Given the description of an element on the screen output the (x, y) to click on. 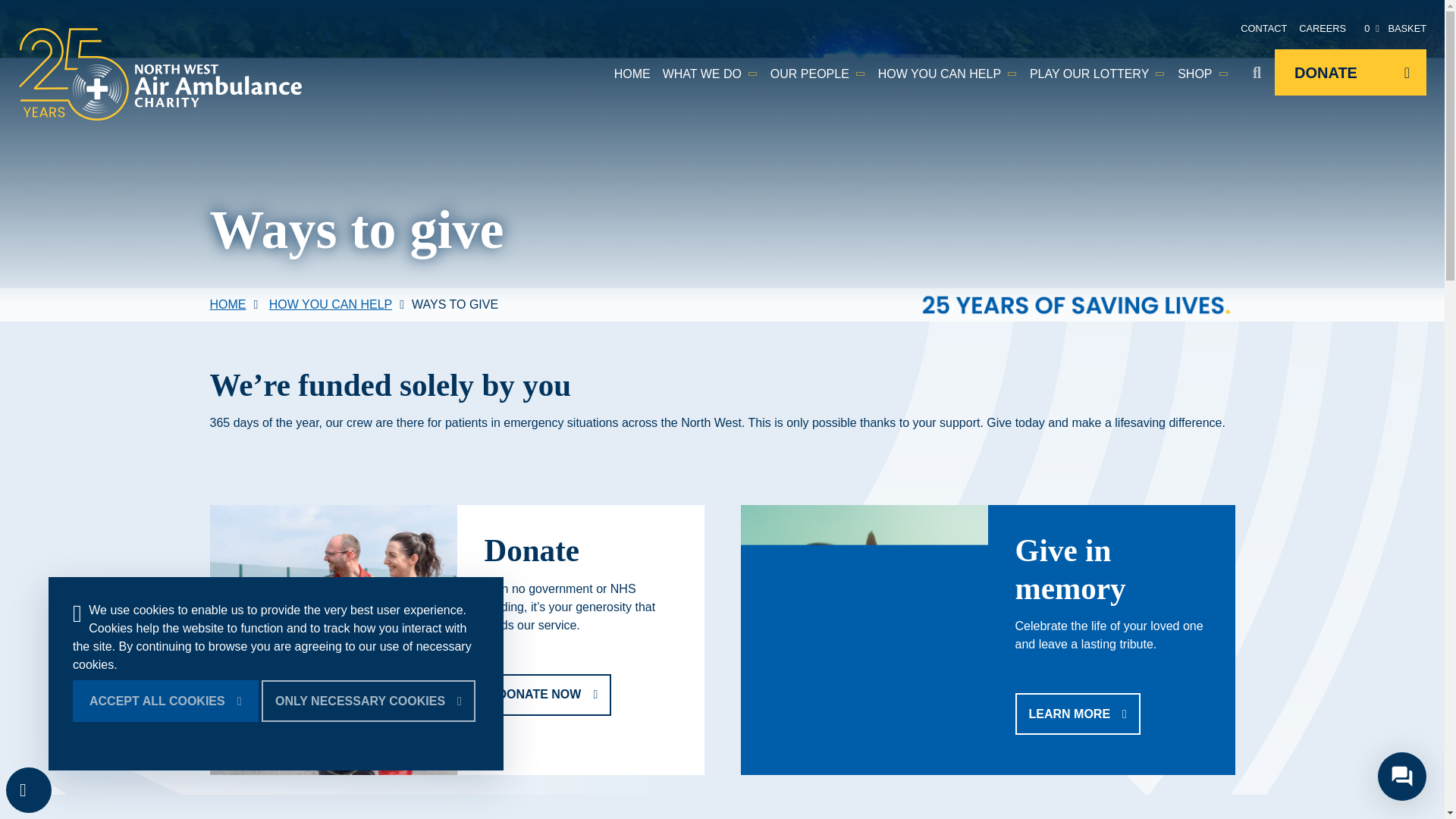
HOME (632, 74)
HOW YOU CAN HELP (947, 74)
OUR PEOPLE (818, 74)
ONLY NECESSARY COOKIES (369, 700)
WHAT WE DO (710, 74)
ACCEPT ALL COOKIES (165, 700)
North West Air Ambulance (159, 73)
Click to change Cookie Settings (27, 790)
